Given the description of an element on the screen output the (x, y) to click on. 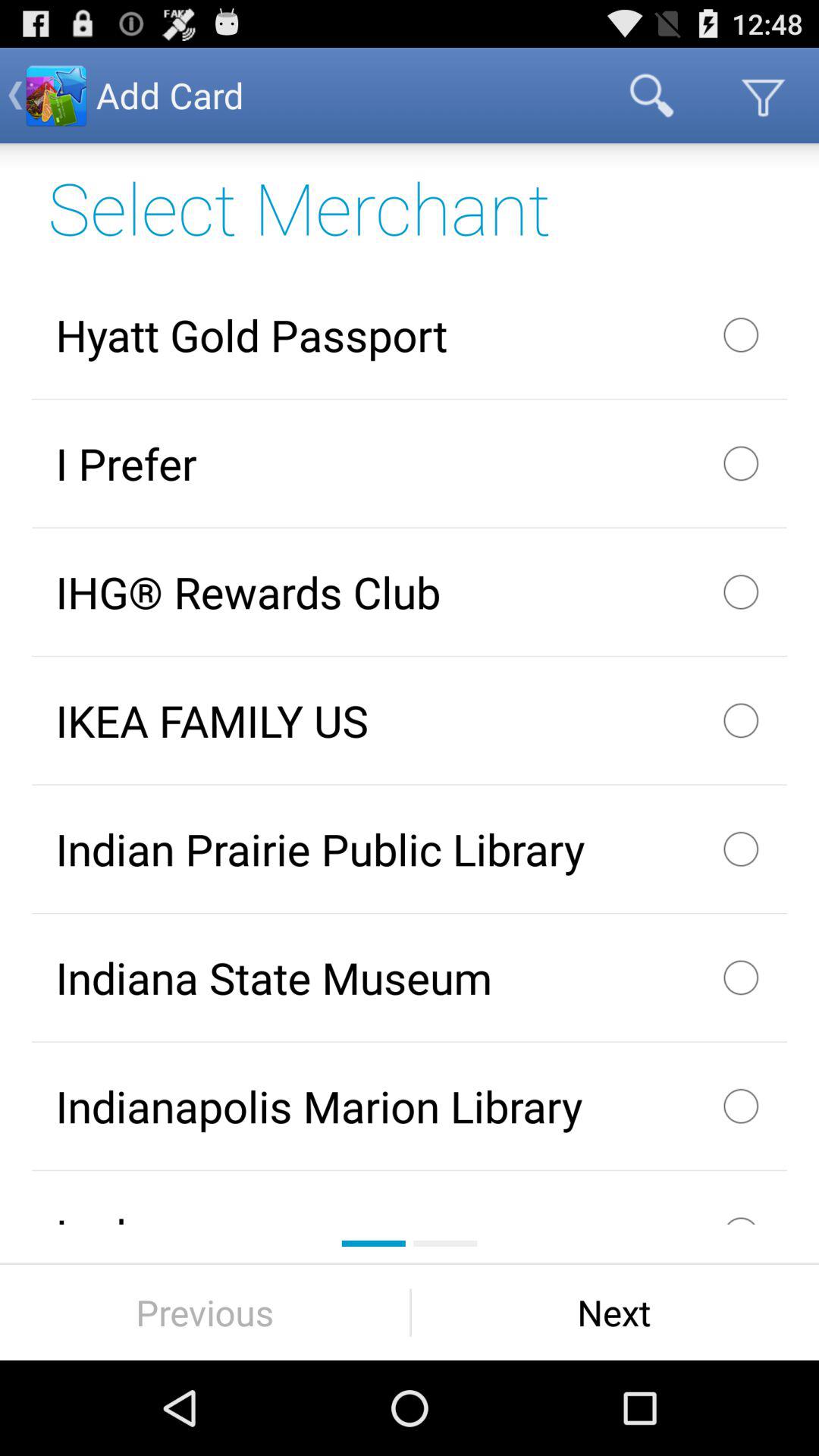
scroll to the indian prairie public (409, 848)
